Given the description of an element on the screen output the (x, y) to click on. 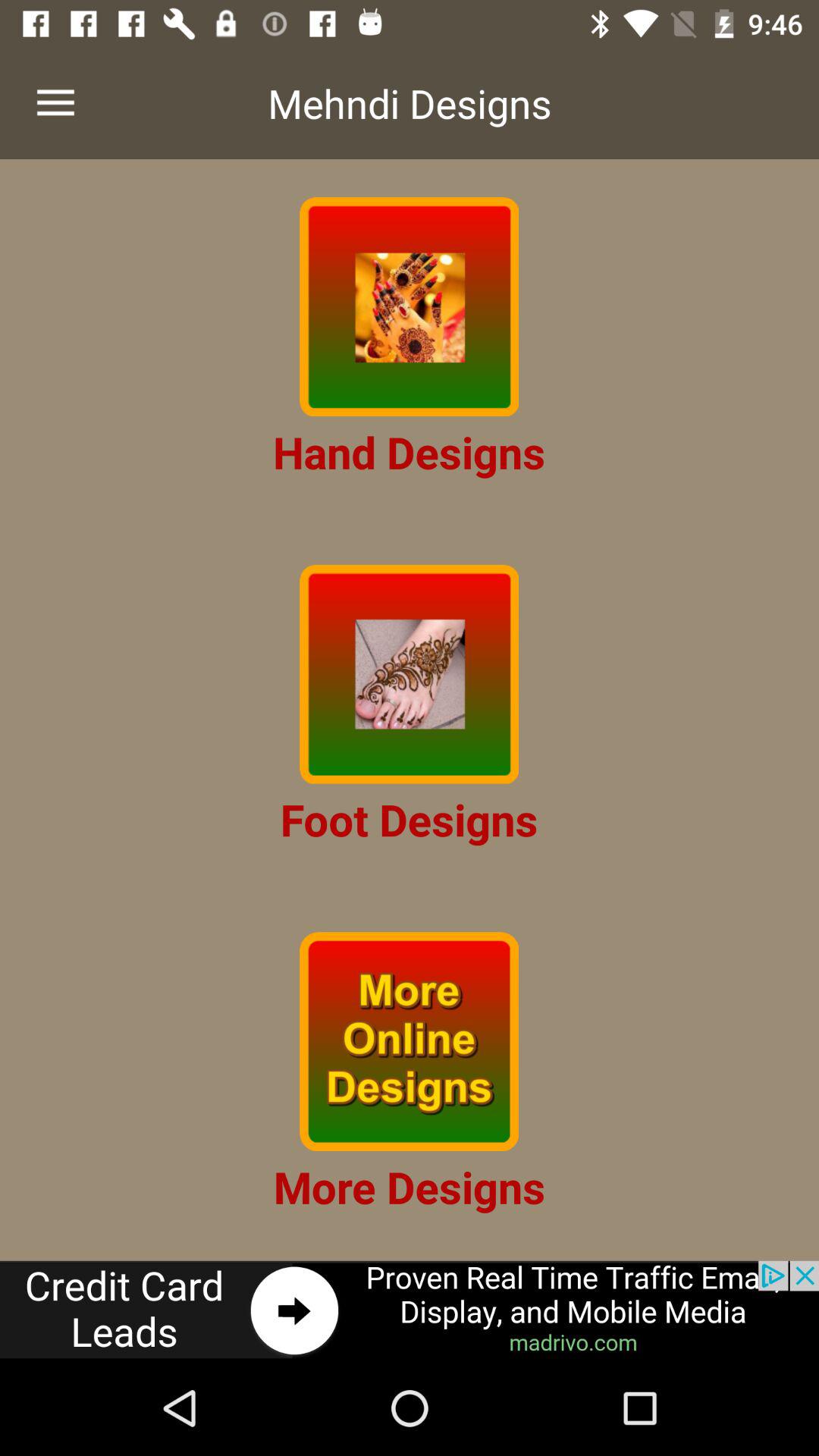
show designs (408, 306)
